Given the description of an element on the screen output the (x, y) to click on. 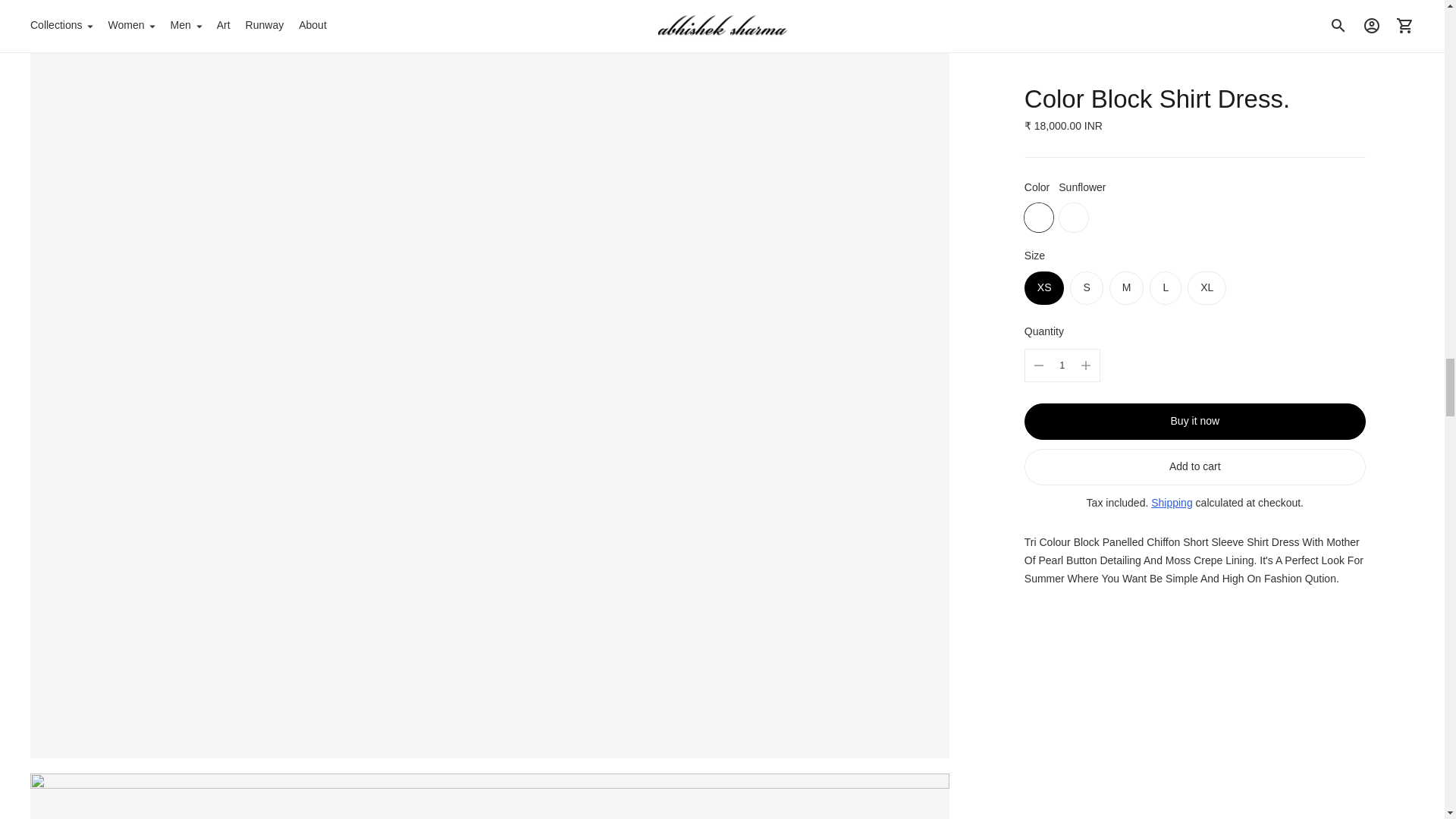
Open Image (489, 796)
